Given the description of an element on the screen output the (x, y) to click on. 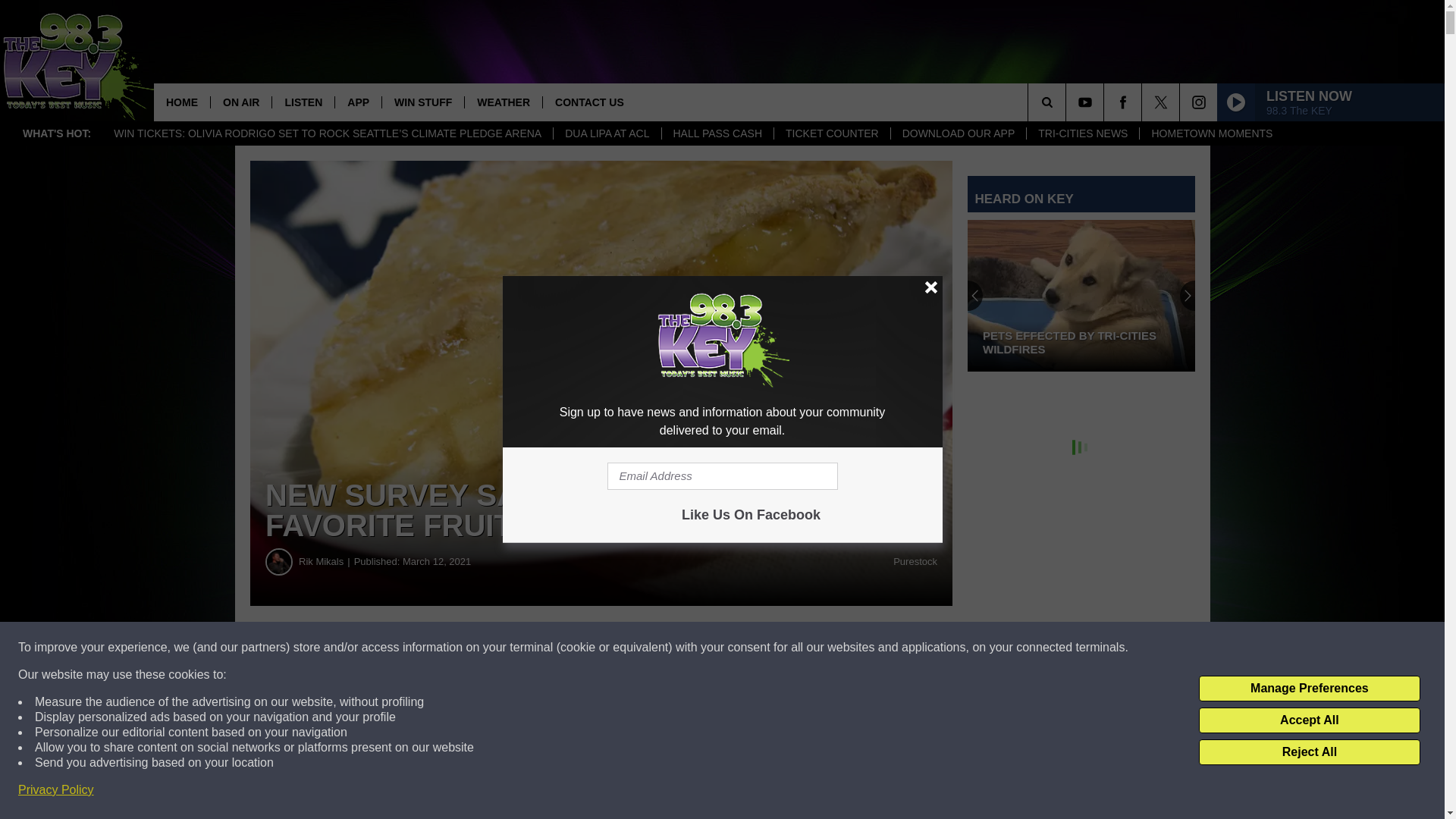
Privacy Policy (55, 789)
SEARCH (1068, 102)
Reject All (1309, 751)
HOMETOWN MOMENTS (1211, 133)
LISTEN (302, 102)
WIN STUFF (422, 102)
Share on Facebook (460, 647)
SEARCH (1068, 102)
WHAT'S HOT: (56, 133)
APP (357, 102)
DOWNLOAD OUR APP (957, 133)
ON AIR (239, 102)
Email Address (722, 475)
TICKET COUNTER (831, 133)
HALL PASS CASH (717, 133)
